Given the description of an element on the screen output the (x, y) to click on. 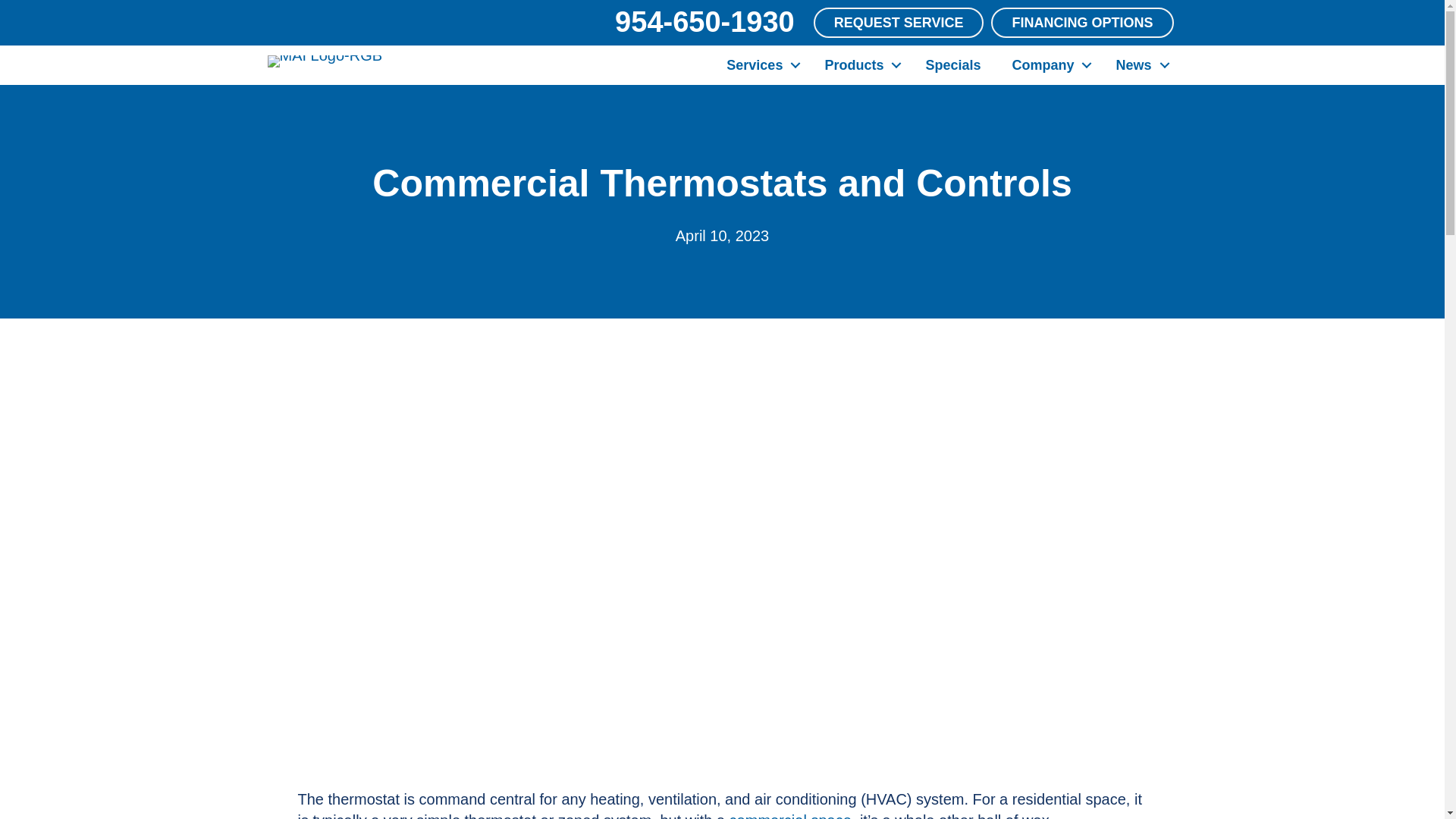
MAI Logo-RGB (323, 61)
News (1138, 65)
Company (1047, 65)
Specials (952, 65)
FINANCING OPTIONS (1082, 22)
REQUEST SERVICE (898, 22)
954-650-1930 (704, 21)
Services (759, 65)
Products (858, 65)
